Given the description of an element on the screen output the (x, y) to click on. 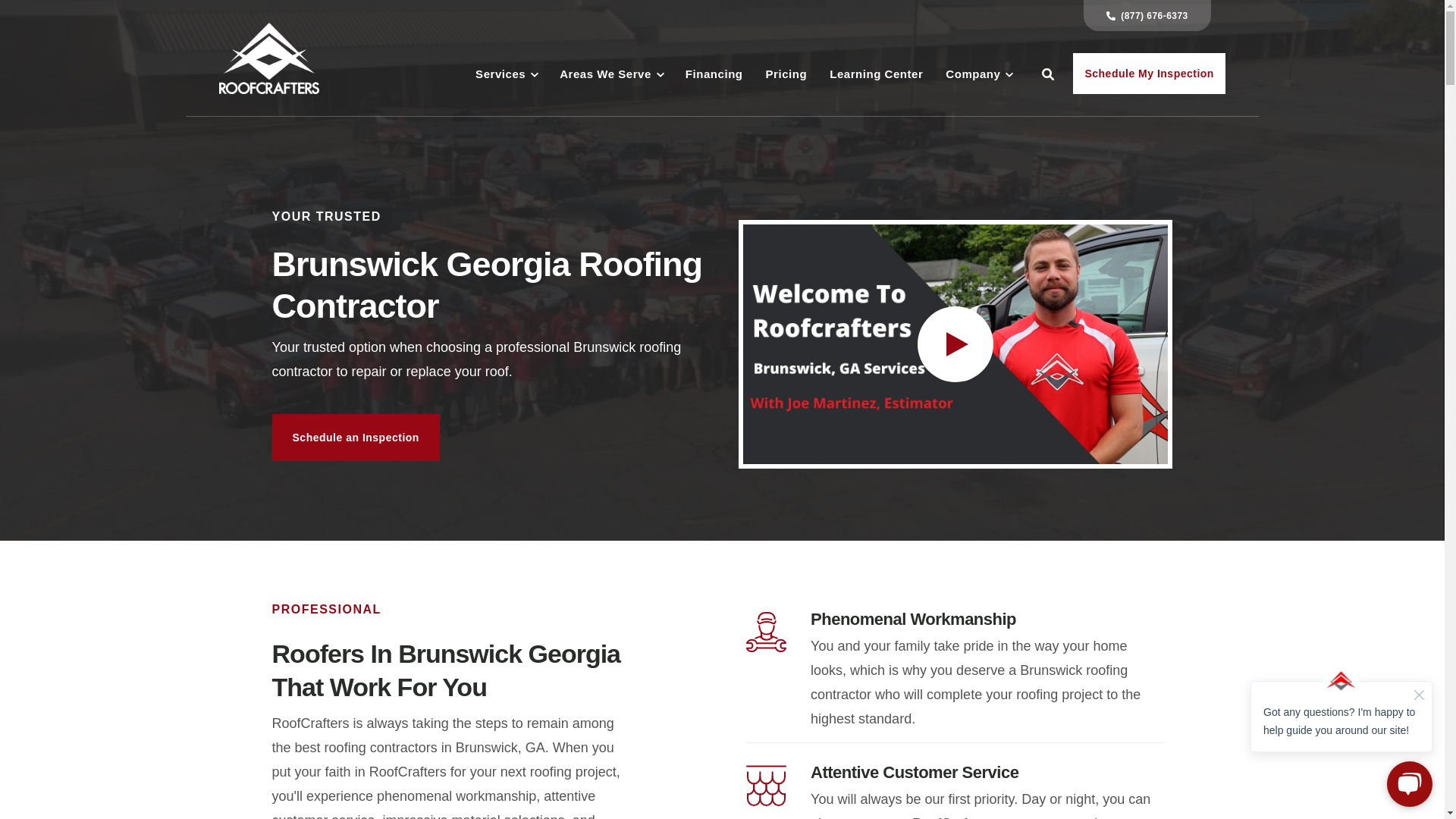
Schedule My Inspection (1148, 73)
Financing (714, 73)
Open Search (1047, 73)
Learning Center (876, 73)
Open Search (1047, 73)
